Given the description of an element on the screen output the (x, y) to click on. 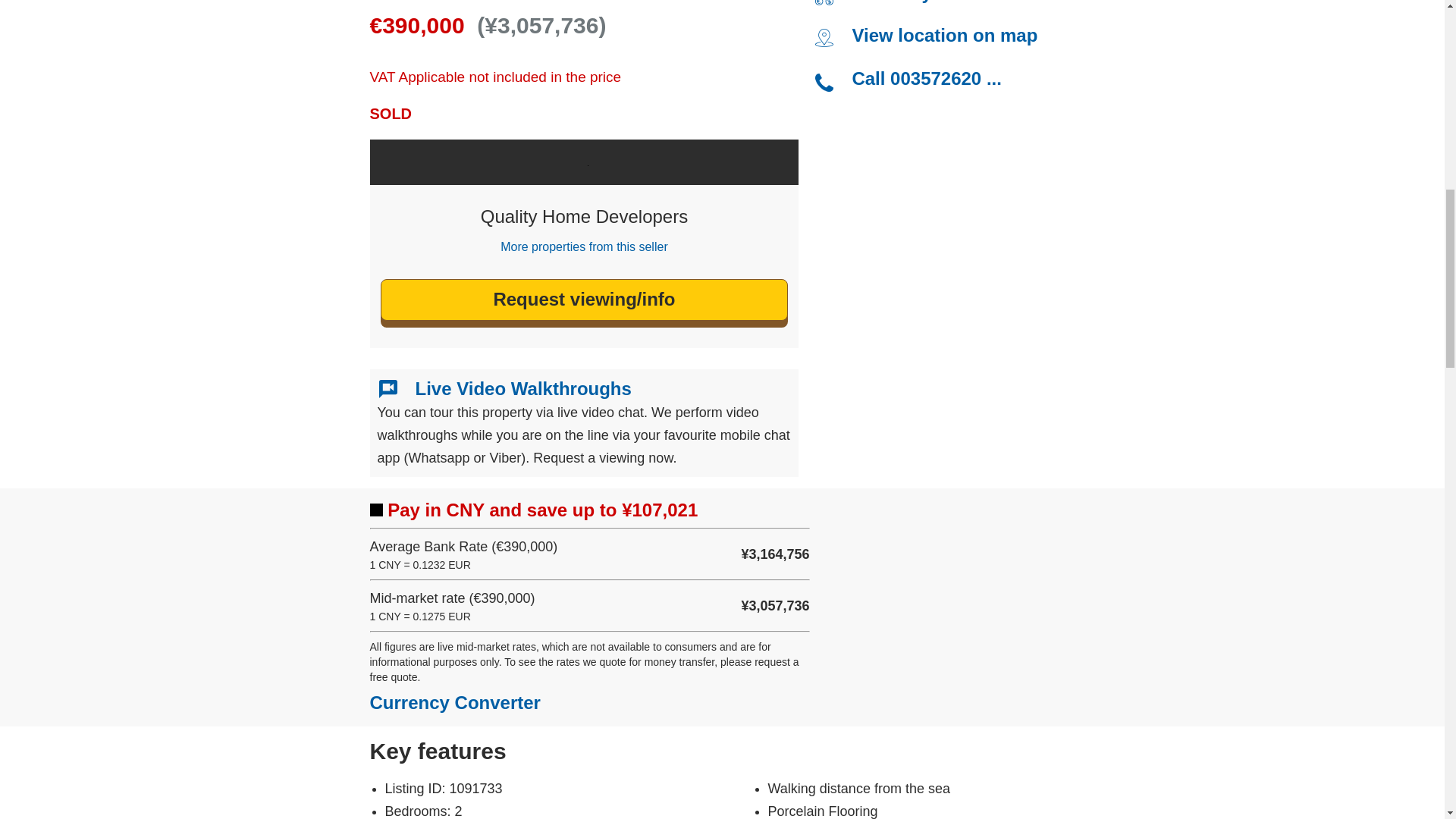
More properties from this seller (584, 246)
View location on map (943, 35)
Live Video Walkthroughs (522, 388)
Currency Converter (454, 702)
Currency converter (935, 1)
